Given the description of an element on the screen output the (x, y) to click on. 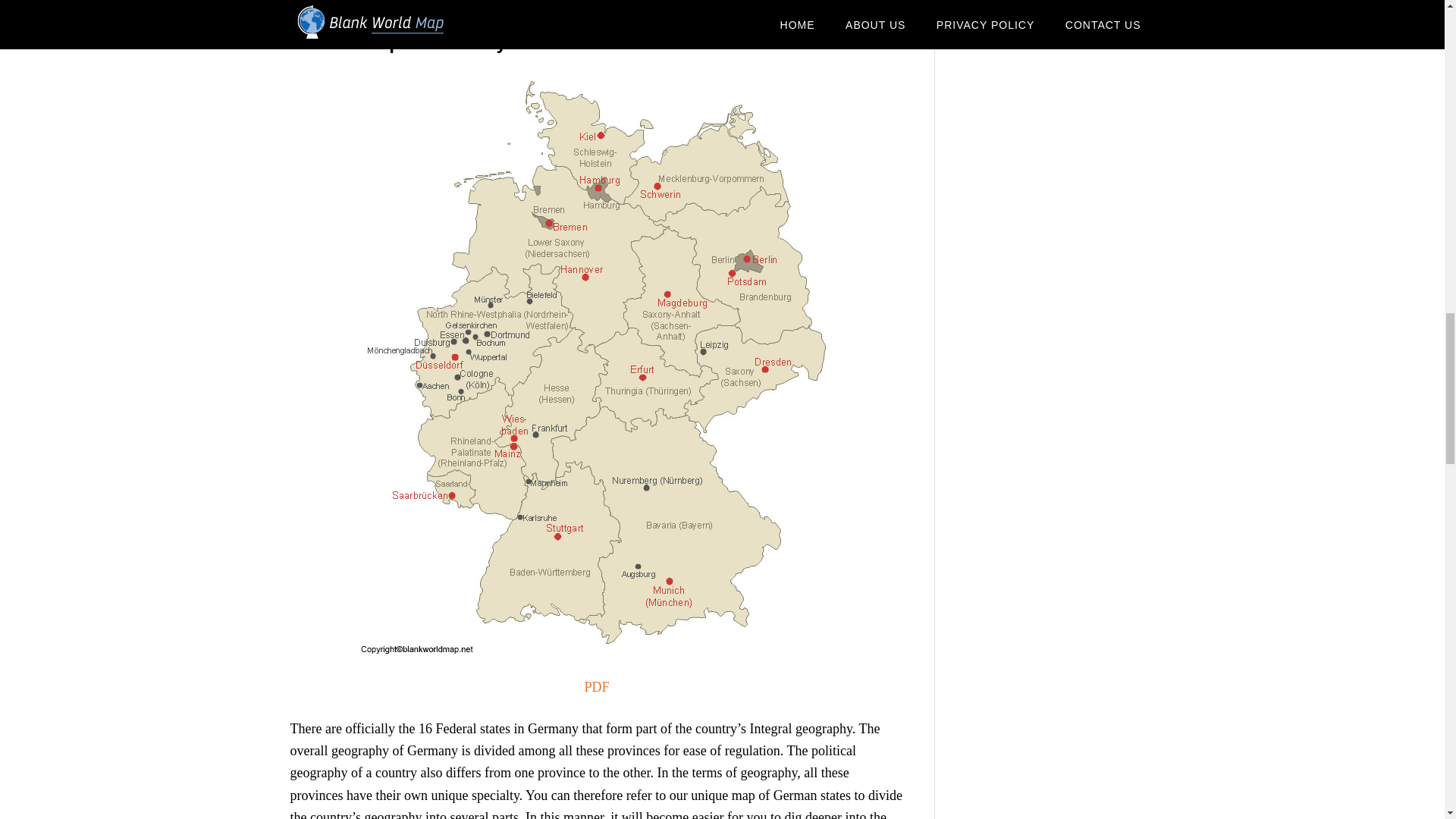
PDF (595, 686)
